Given the description of an element on the screen output the (x, y) to click on. 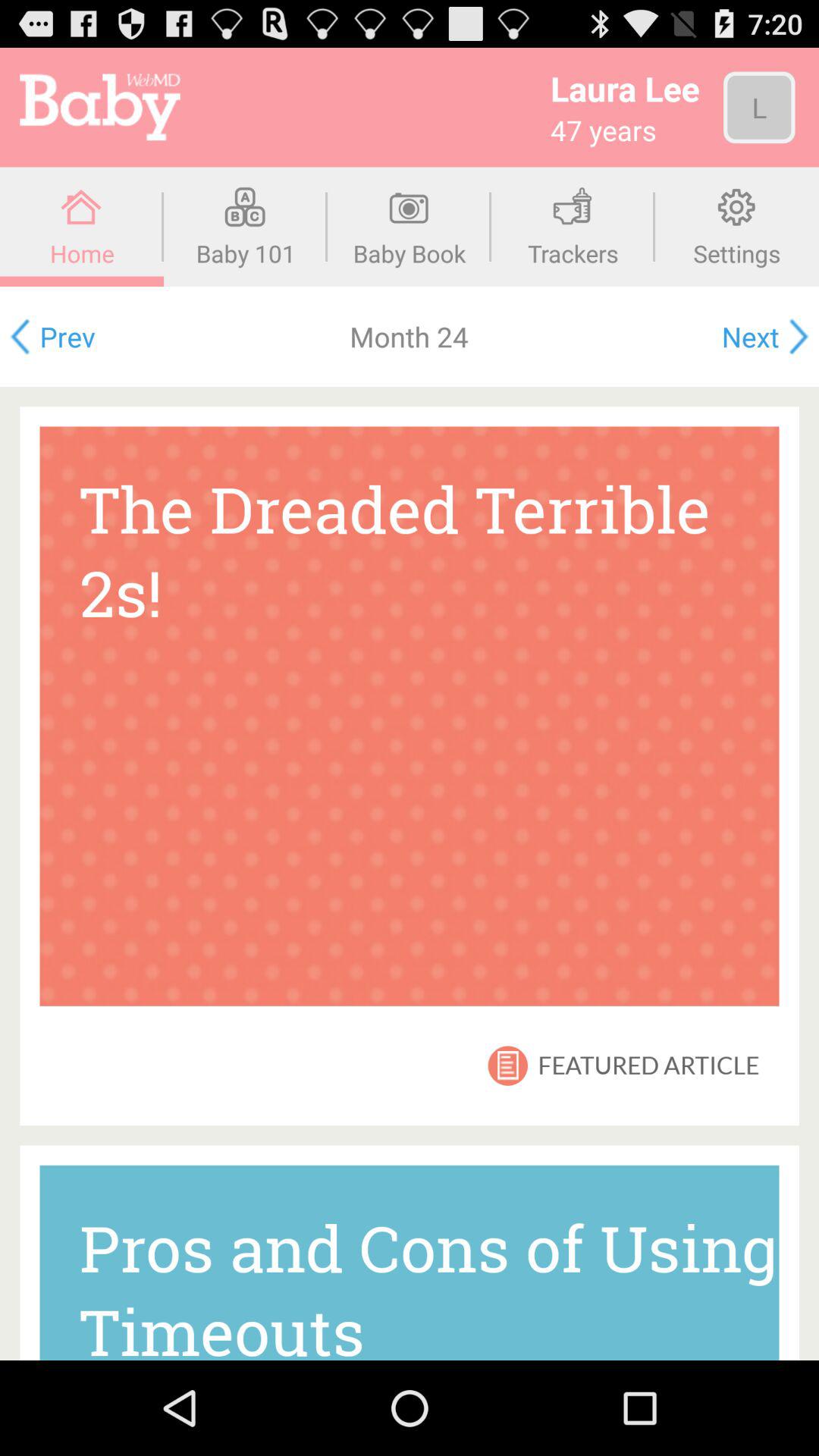
turn off the icon to the left of the featured article (507, 1065)
